Given the description of an element on the screen output the (x, y) to click on. 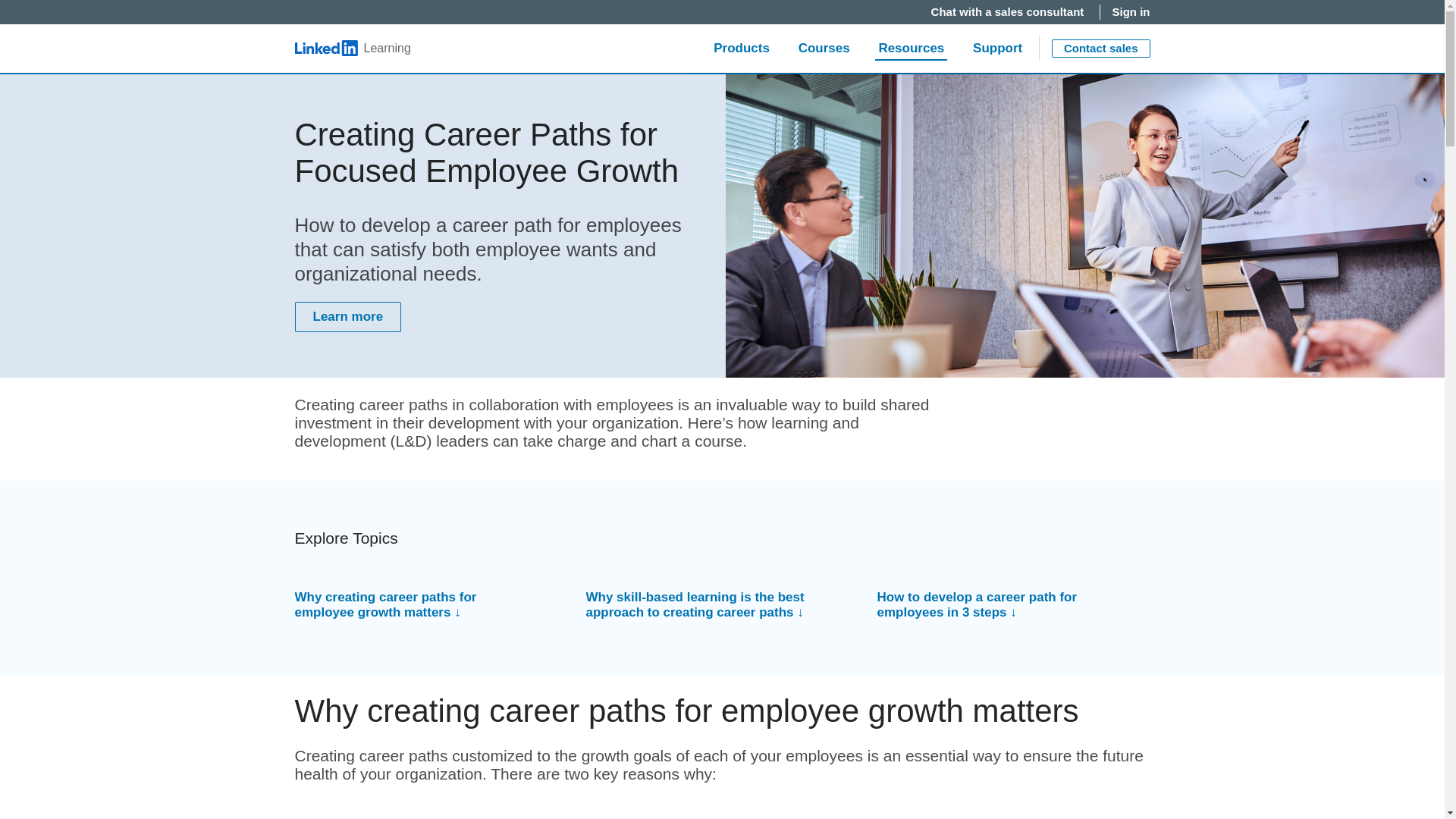
Courses (823, 48)
Resources (911, 48)
Support (996, 48)
Chat with a sales consultant (1009, 11)
Sign in (1131, 11)
Products (741, 48)
Resources (911, 48)
Sign in (1131, 11)
Contact sales (1100, 48)
Contact sales (351, 48)
For Technology (1100, 48)
Products (1023, 18)
Chat with a sales consultant (741, 48)
Courses (1009, 11)
